Given the description of an element on the screen output the (x, y) to click on. 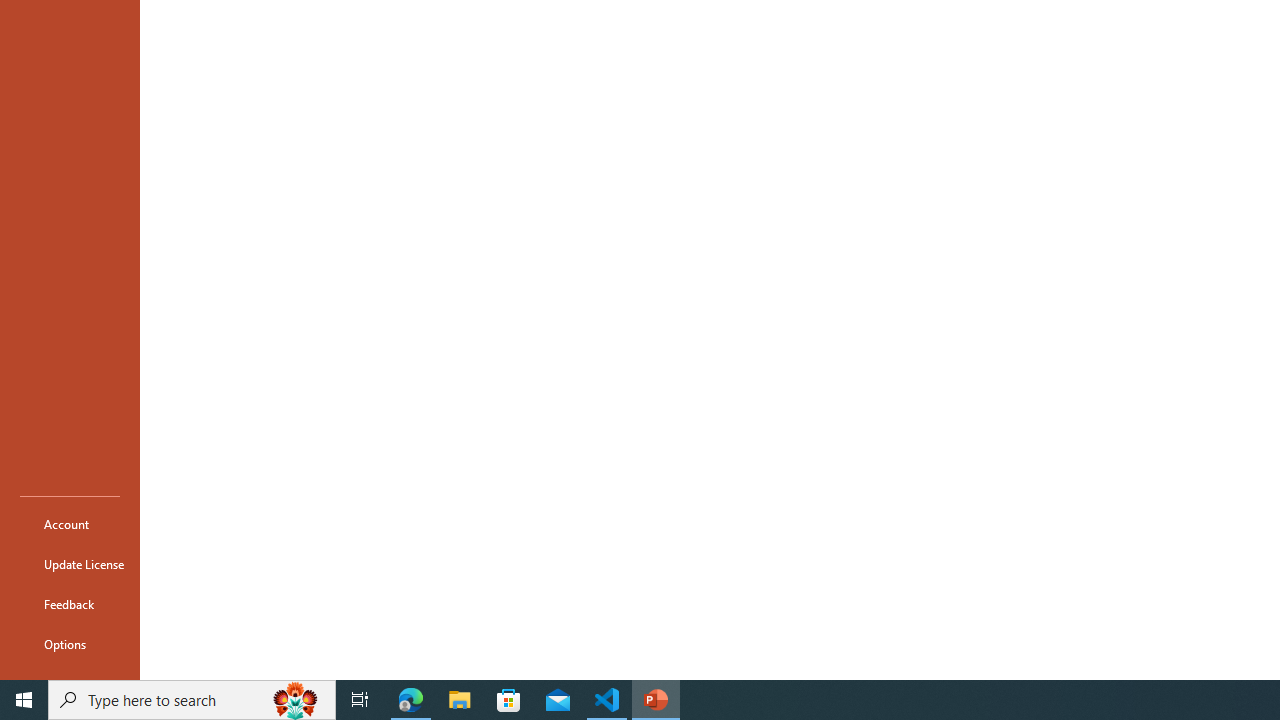
Options (69, 643)
Account (69, 523)
Feedback (69, 603)
Update License (69, 563)
